Given the description of an element on the screen output the (x, y) to click on. 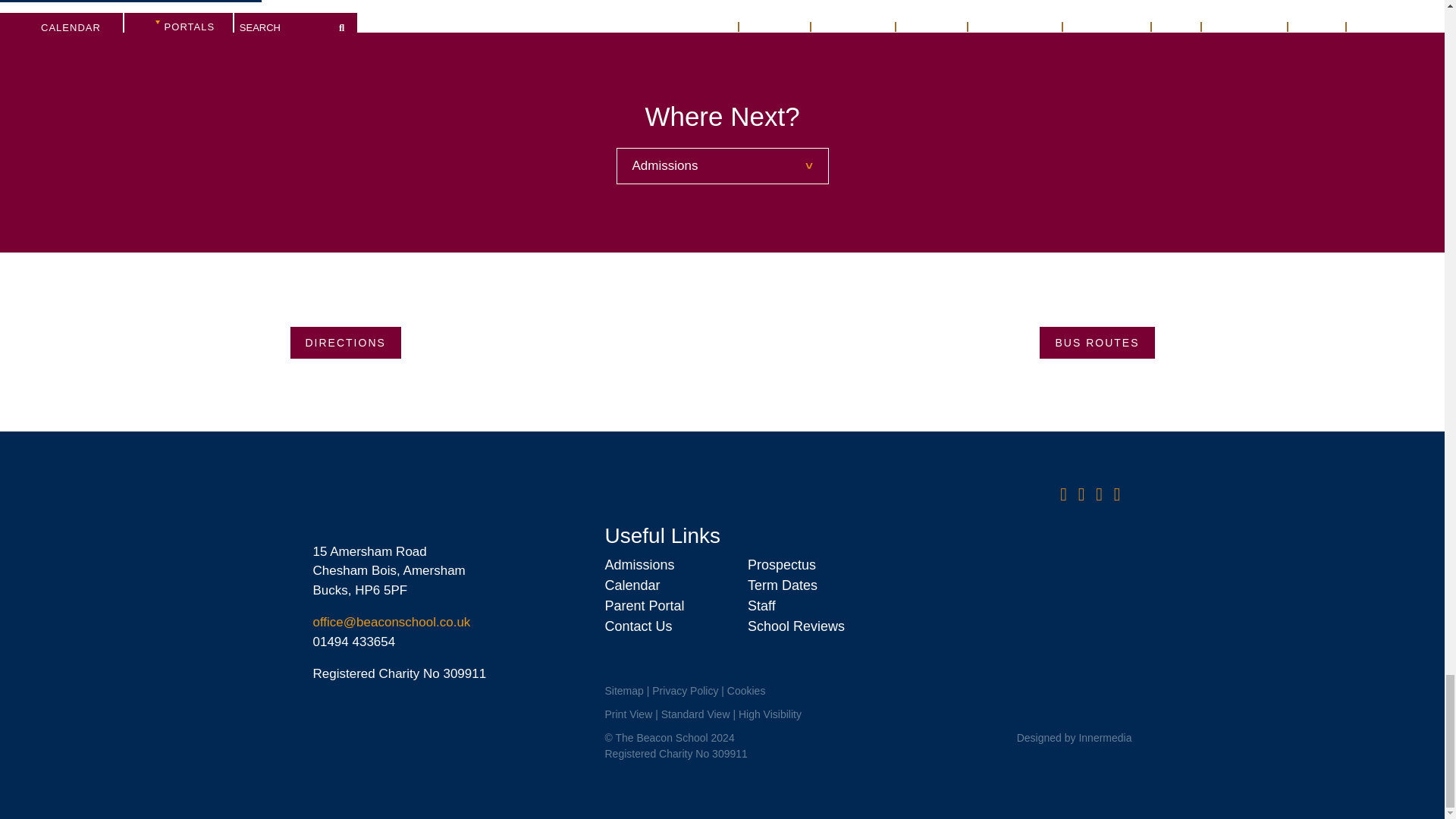
Switch to Print (628, 714)
Switch to Standard Visibility (695, 714)
Switch to High Visibility (770, 714)
